Given the description of an element on the screen output the (x, y) to click on. 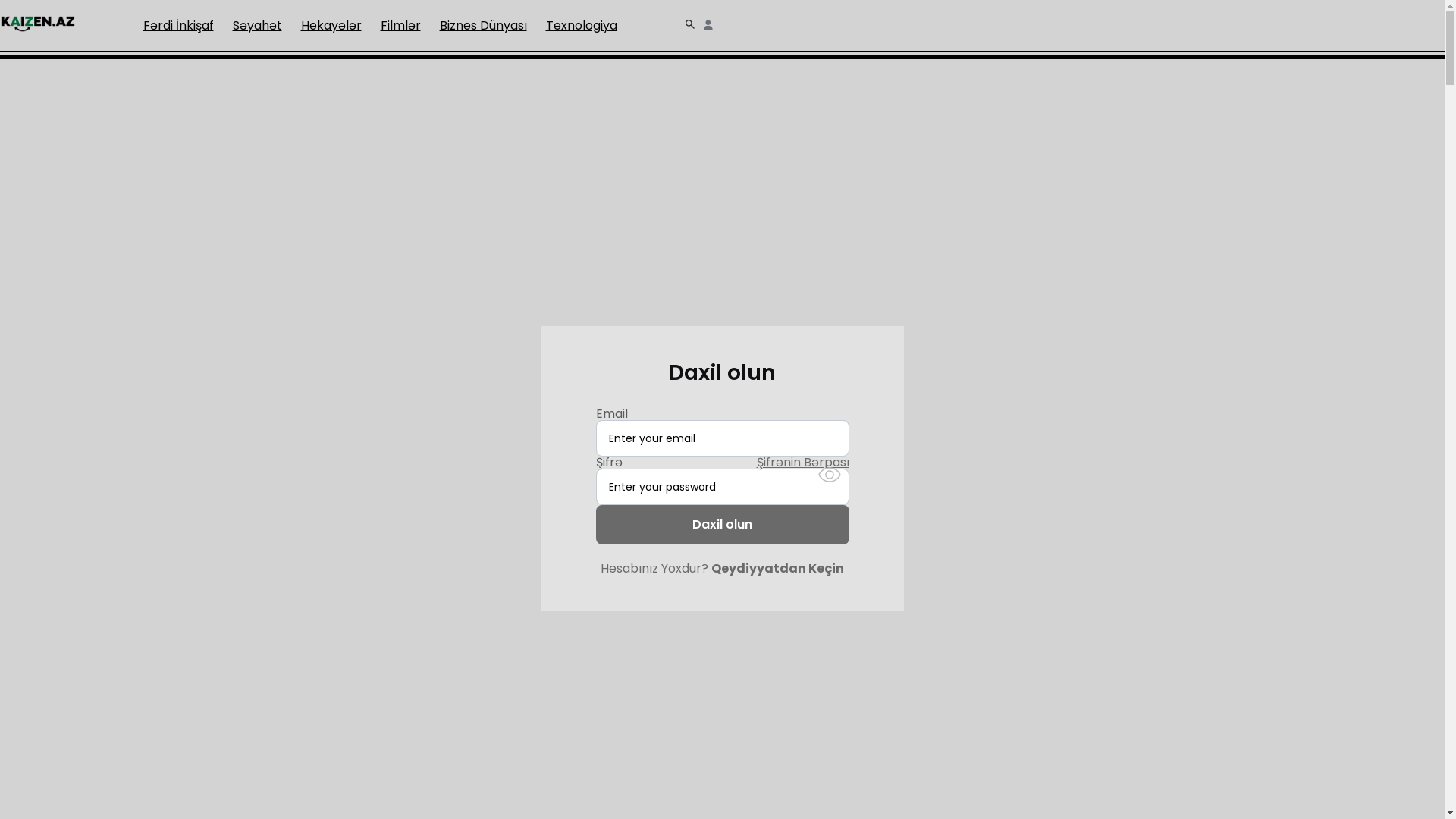
Daxil olun Element type: text (722, 524)
Texnologiya Element type: text (581, 24)
